Given the description of an element on the screen output the (x, y) to click on. 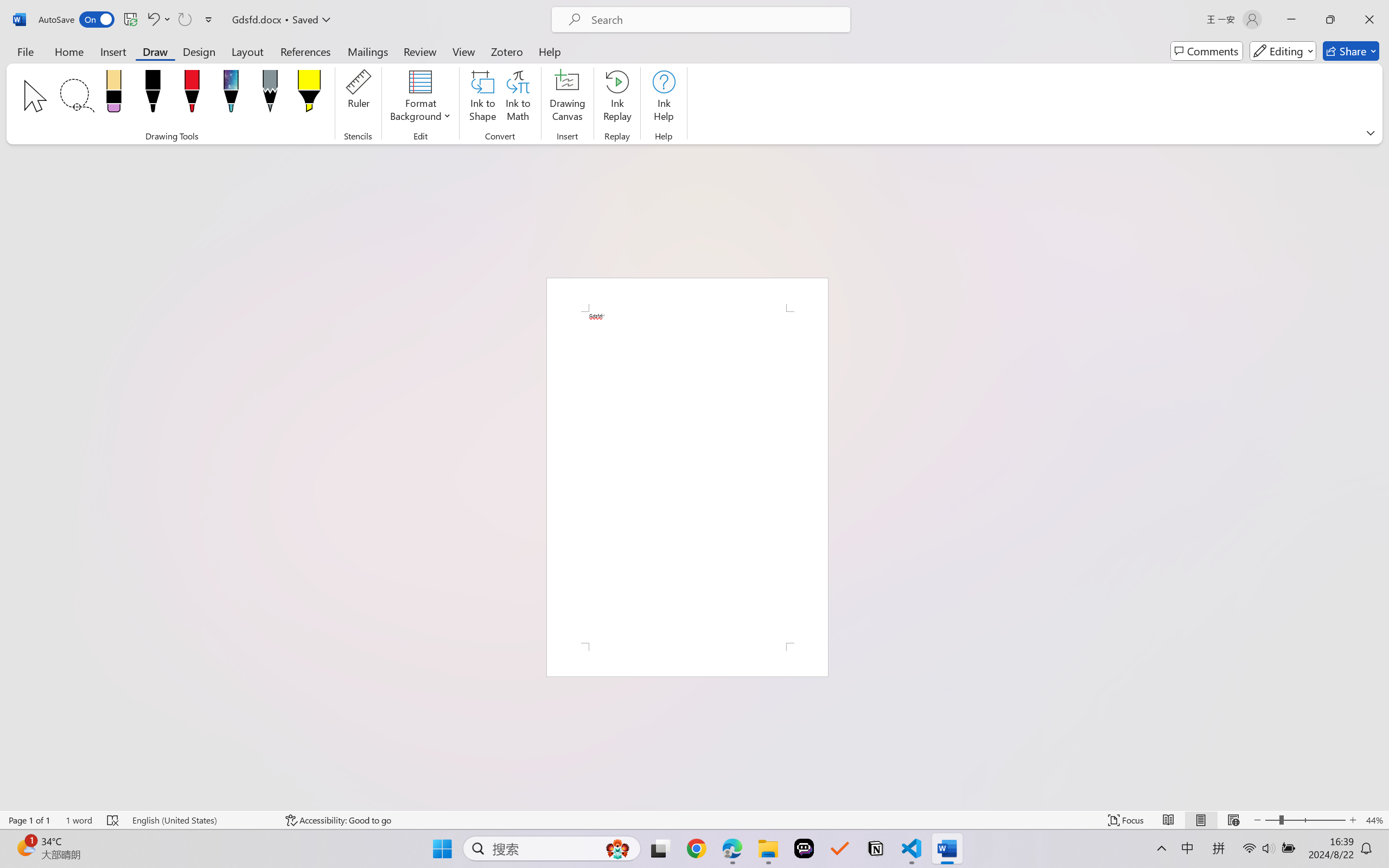
Undo Apply Quick Style (152, 19)
Microsoft search (715, 19)
Ink to Shape (483, 97)
Class: NetUIScrollBar (1382, 477)
Highlighter: Yellow, 6 mm (309, 94)
